Given the description of an element on the screen output the (x, y) to click on. 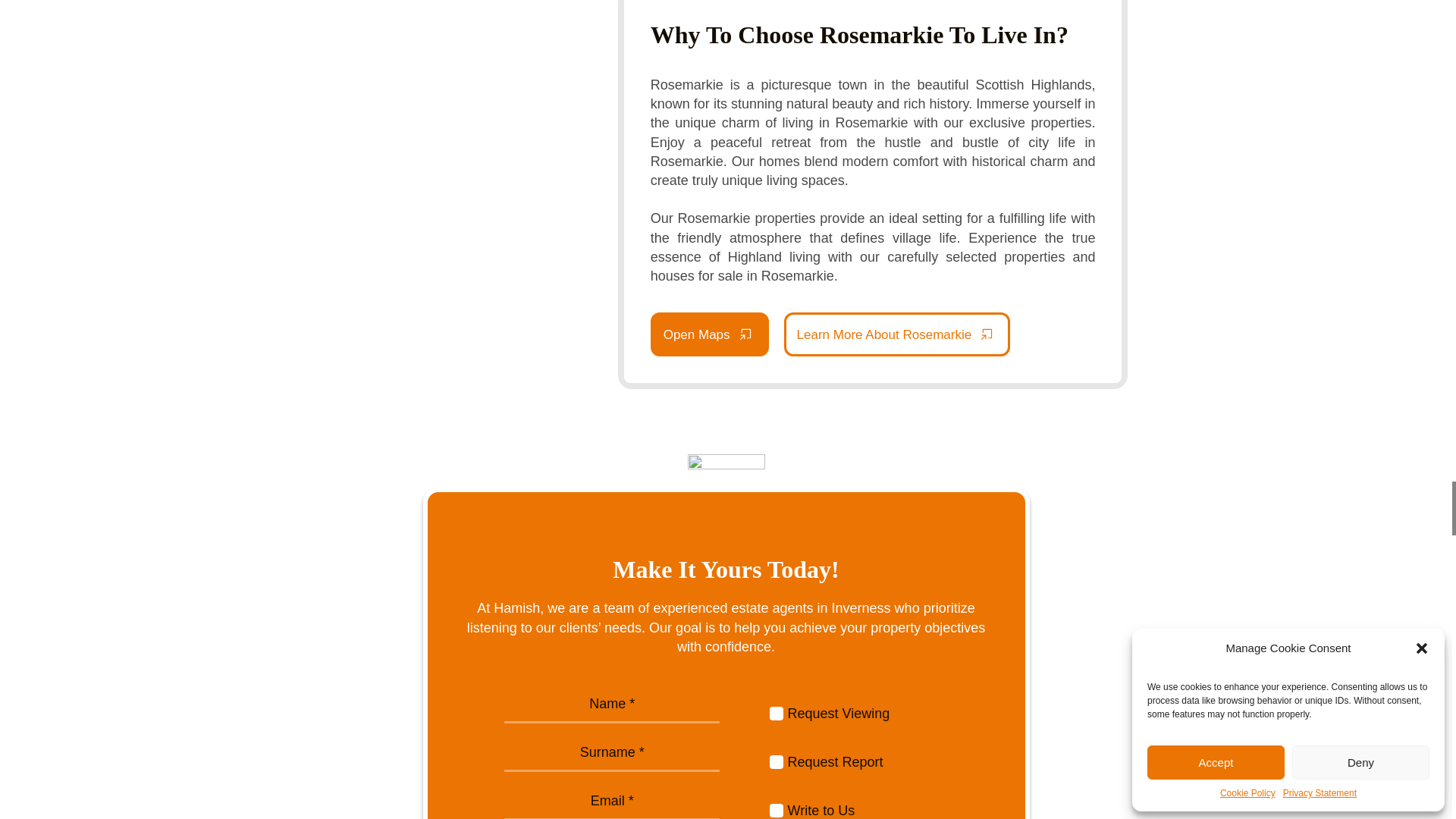
Write to Us (776, 810)
Yes (776, 713)
Yes (776, 762)
